Given the description of an element on the screen output the (x, y) to click on. 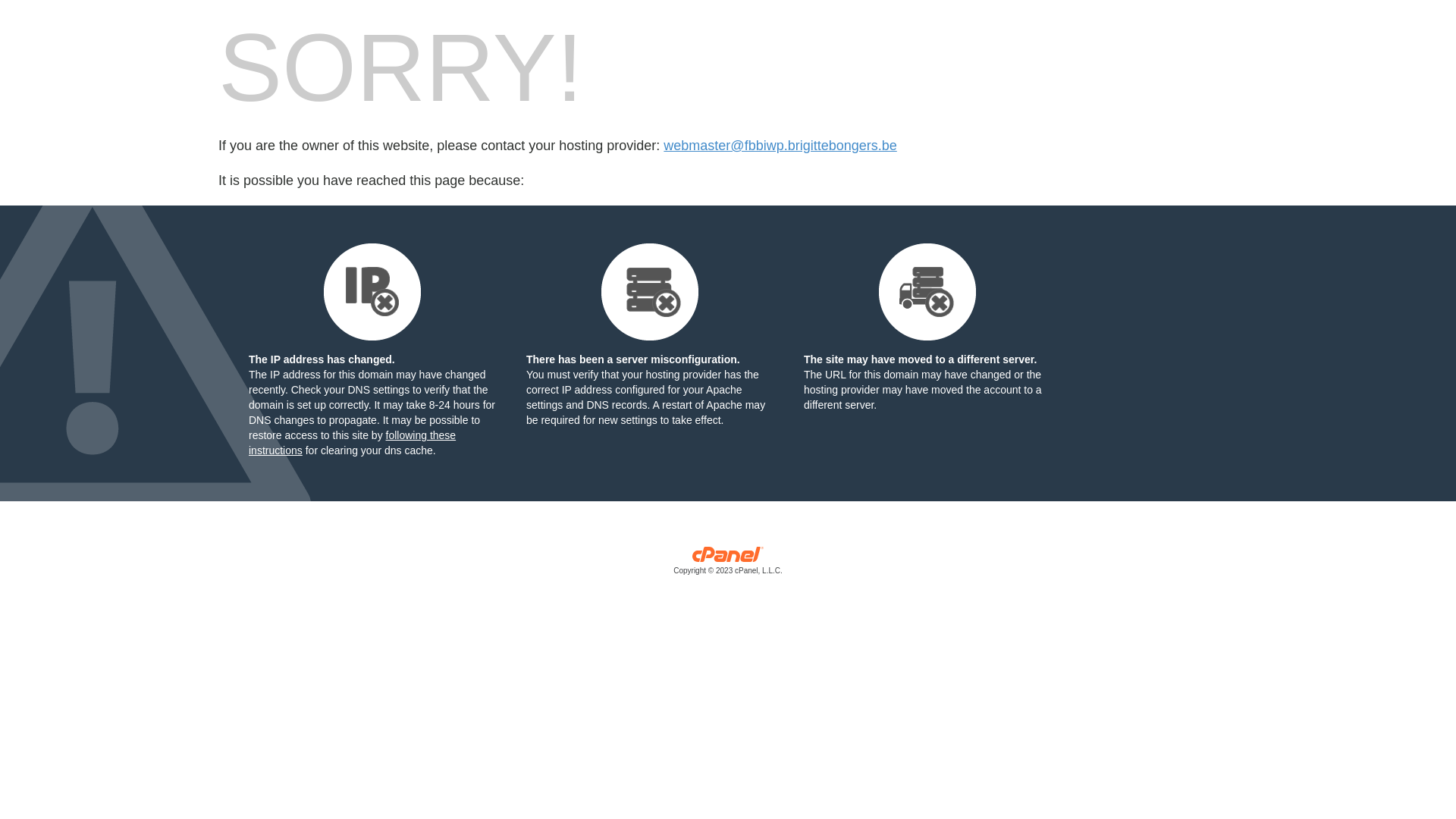
webmaster@fbbiwp.brigittebongers.be Element type: text (779, 145)
following these instructions Element type: text (351, 442)
